Given the description of an element on the screen output the (x, y) to click on. 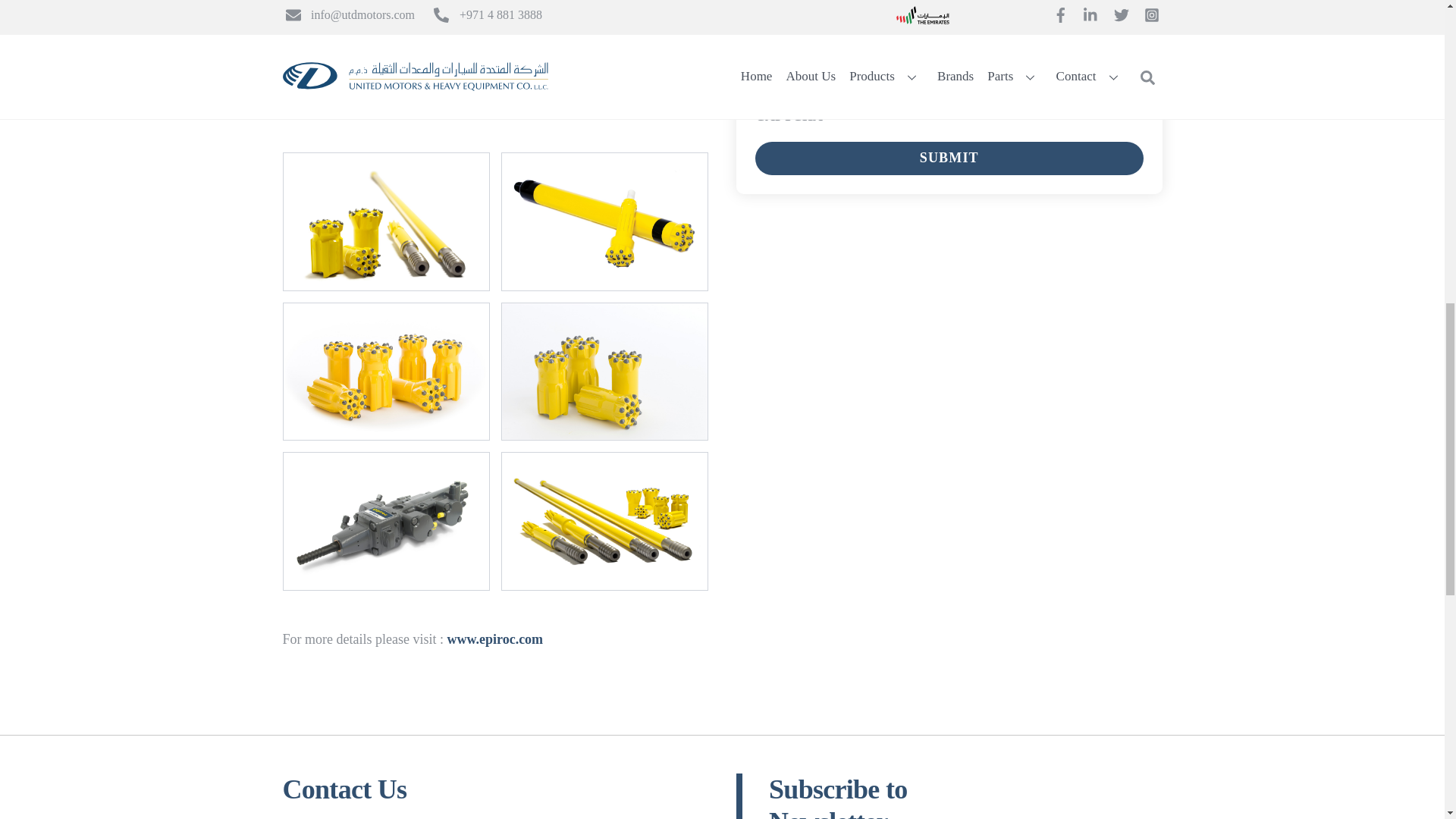
Rock Drilling Tools (603, 371)
Rock Drilling Tools (603, 521)
Rock Drilling Tools (385, 371)
Rock Drilling Tools (385, 221)
Rock Drilling Tools (385, 521)
Submit (948, 158)
Rock Drilling Tools (603, 221)
